Given the description of an element on the screen output the (x, y) to click on. 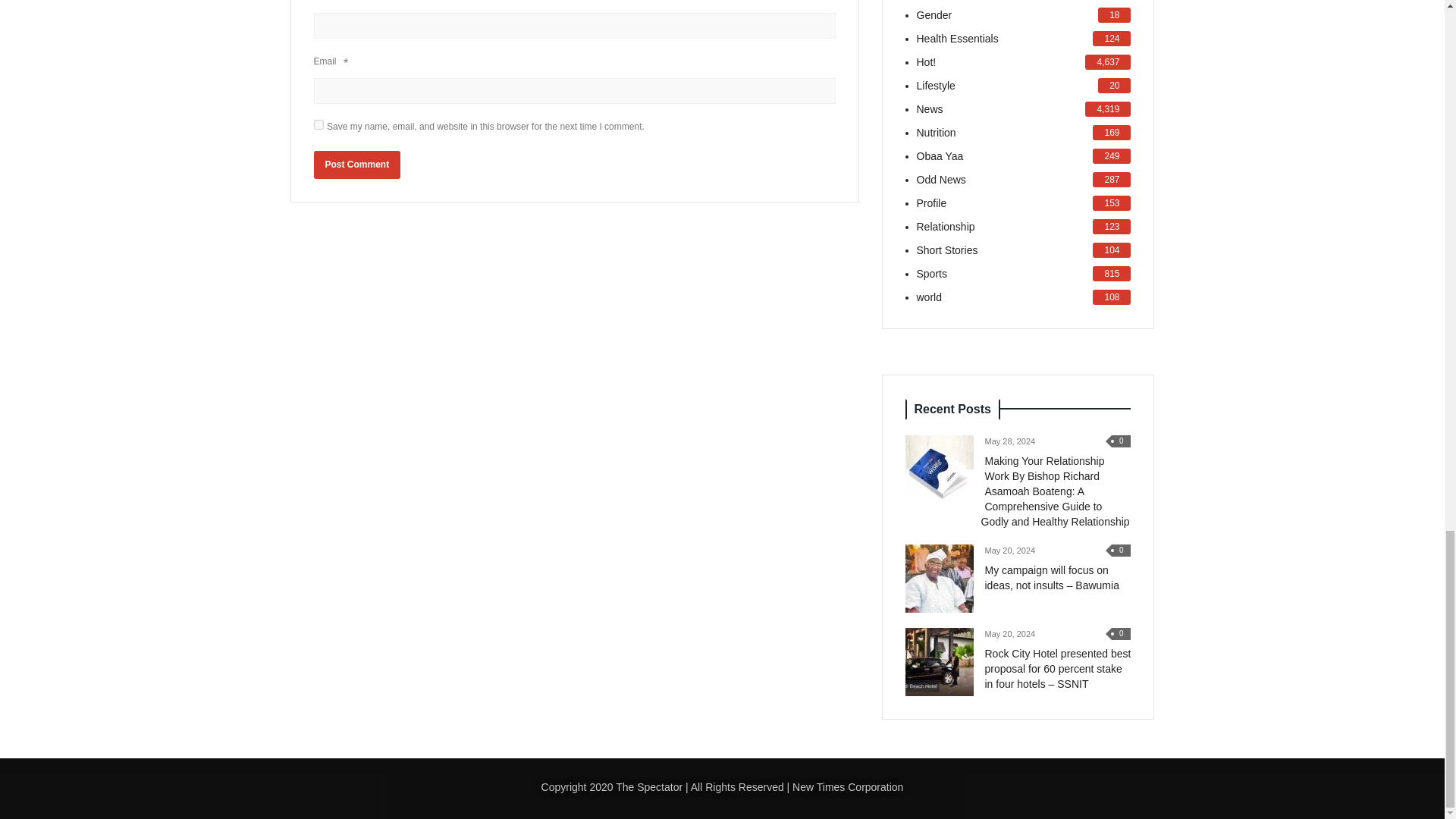
yes (318, 124)
Post Comment (357, 164)
